Given the description of an element on the screen output the (x, y) to click on. 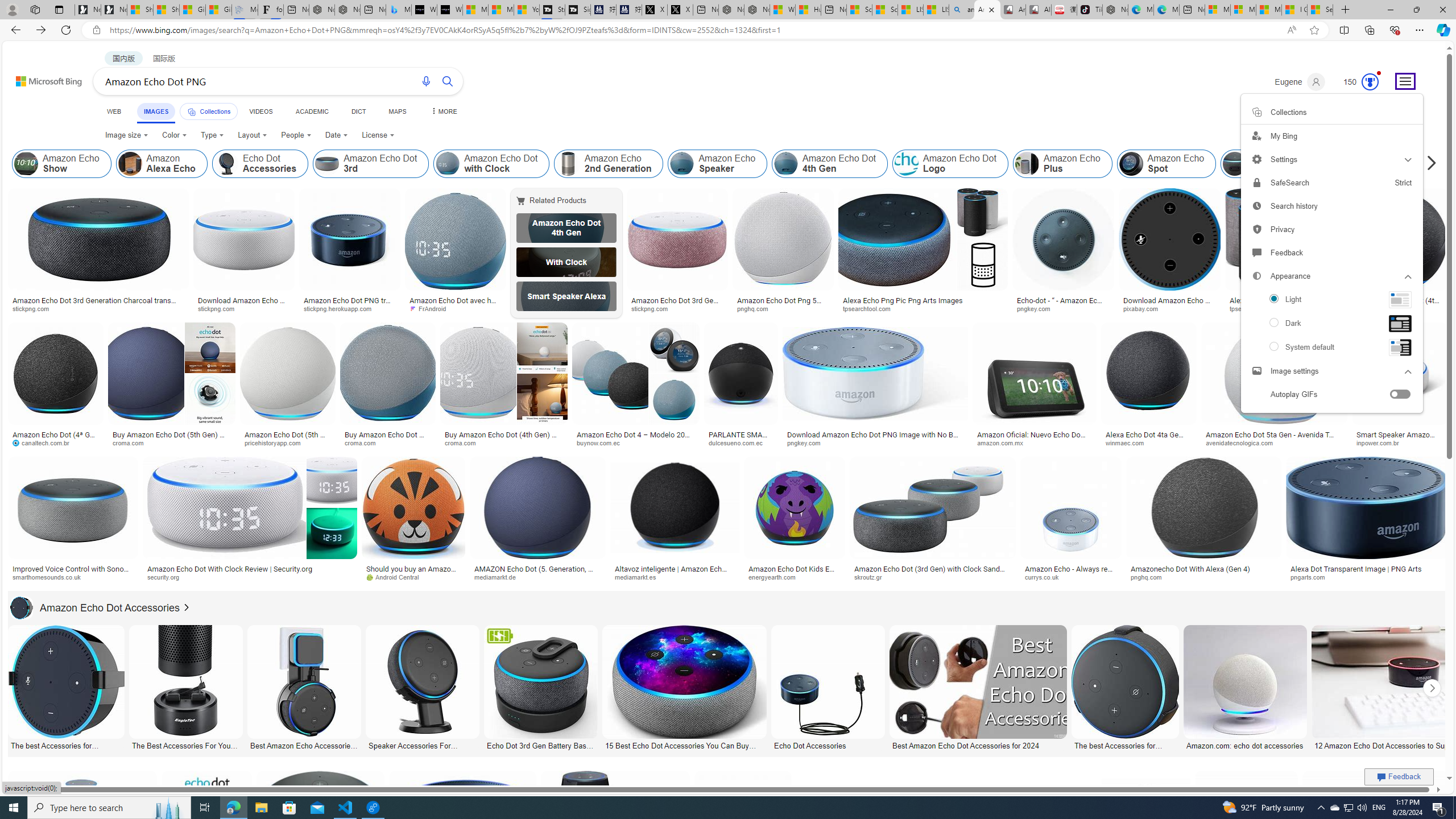
pixabay.com (1144, 308)
stickpng.herokuapp.com (350, 308)
energyearth.com (794, 576)
avenidatecnologica.com (1243, 442)
Image settings Image settings (1331, 370)
currys.co.uk (1070, 576)
Date (336, 135)
croma.com (503, 442)
Amazon Echo Dot 3rd (371, 163)
avenidatecnologica.com (1273, 442)
